Given the description of an element on the screen output the (x, y) to click on. 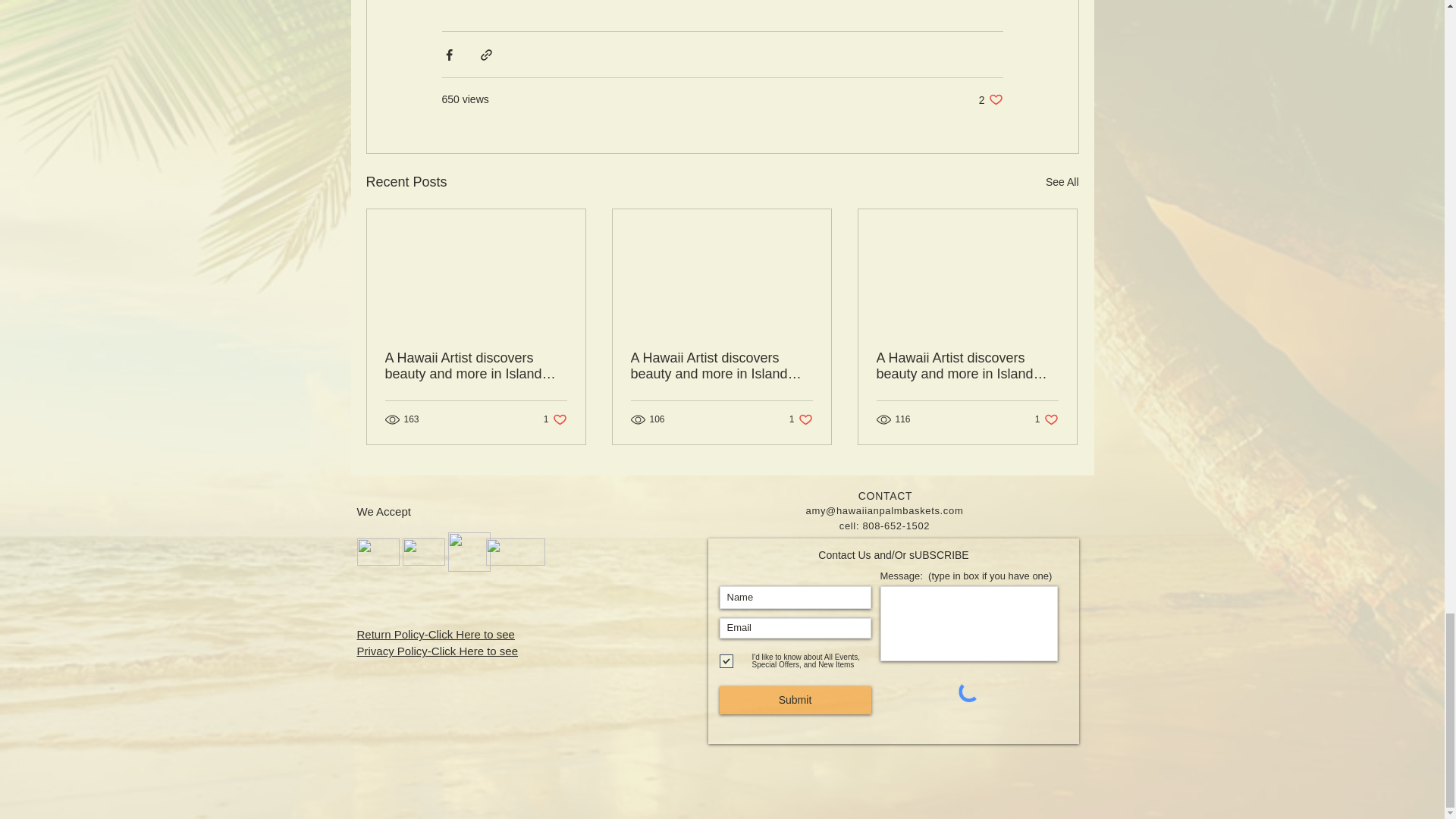
Submit (794, 700)
Privacy Policy-Click Here to see (800, 419)
See All (437, 650)
Return Policy-Click Here to see (555, 419)
